Given the description of an element on the screen output the (x, y) to click on. 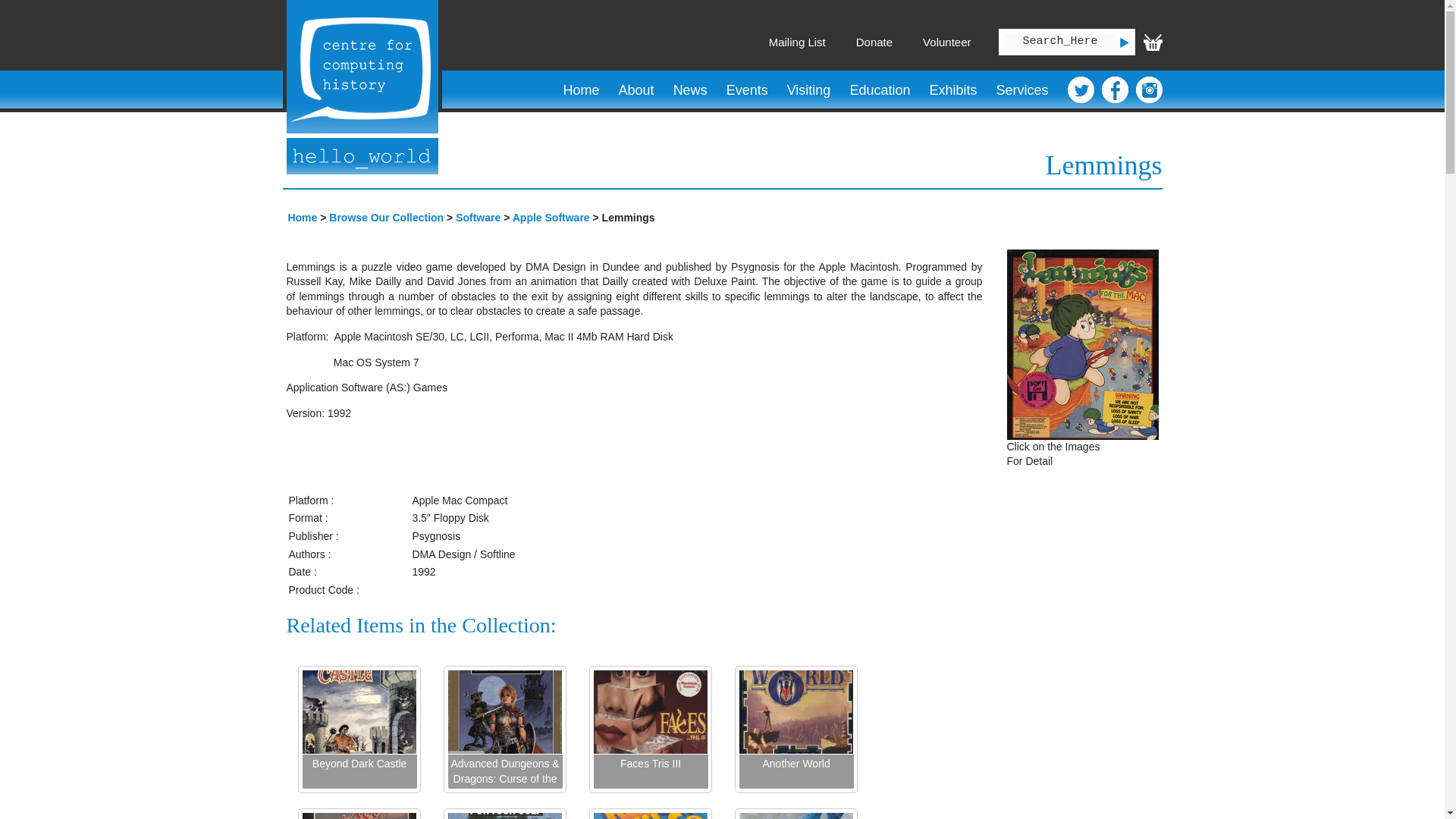
Donate (874, 42)
Faces Tris III (649, 771)
About (636, 90)
Education (879, 90)
Beyond Dark Castle (358, 771)
Mailing List (796, 42)
Another World (795, 771)
Services (1021, 90)
Visiting (808, 90)
Exhibits (951, 90)
